Given the description of an element on the screen output the (x, y) to click on. 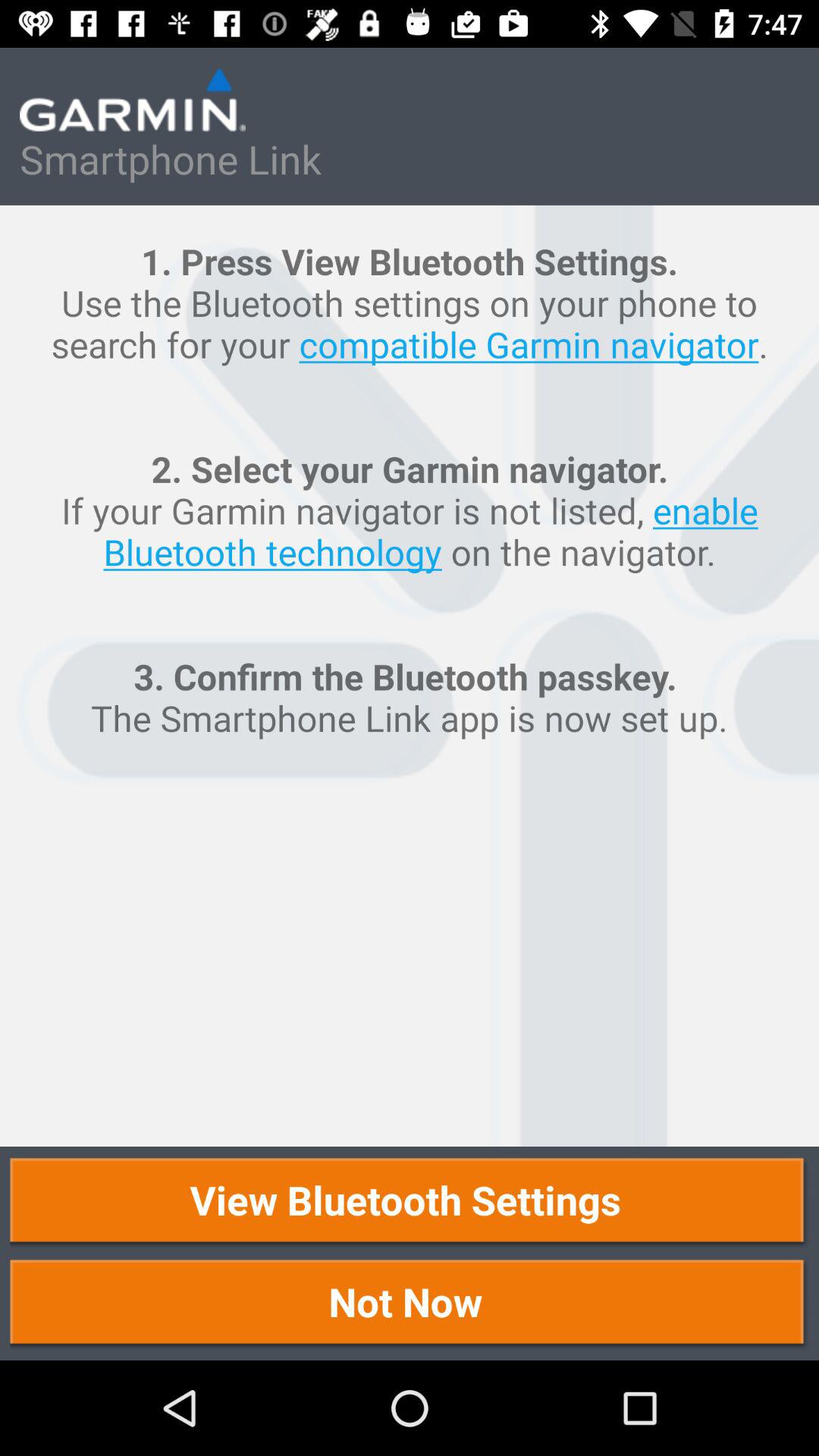
open the item at the center (409, 675)
